Given the description of an element on the screen output the (x, y) to click on. 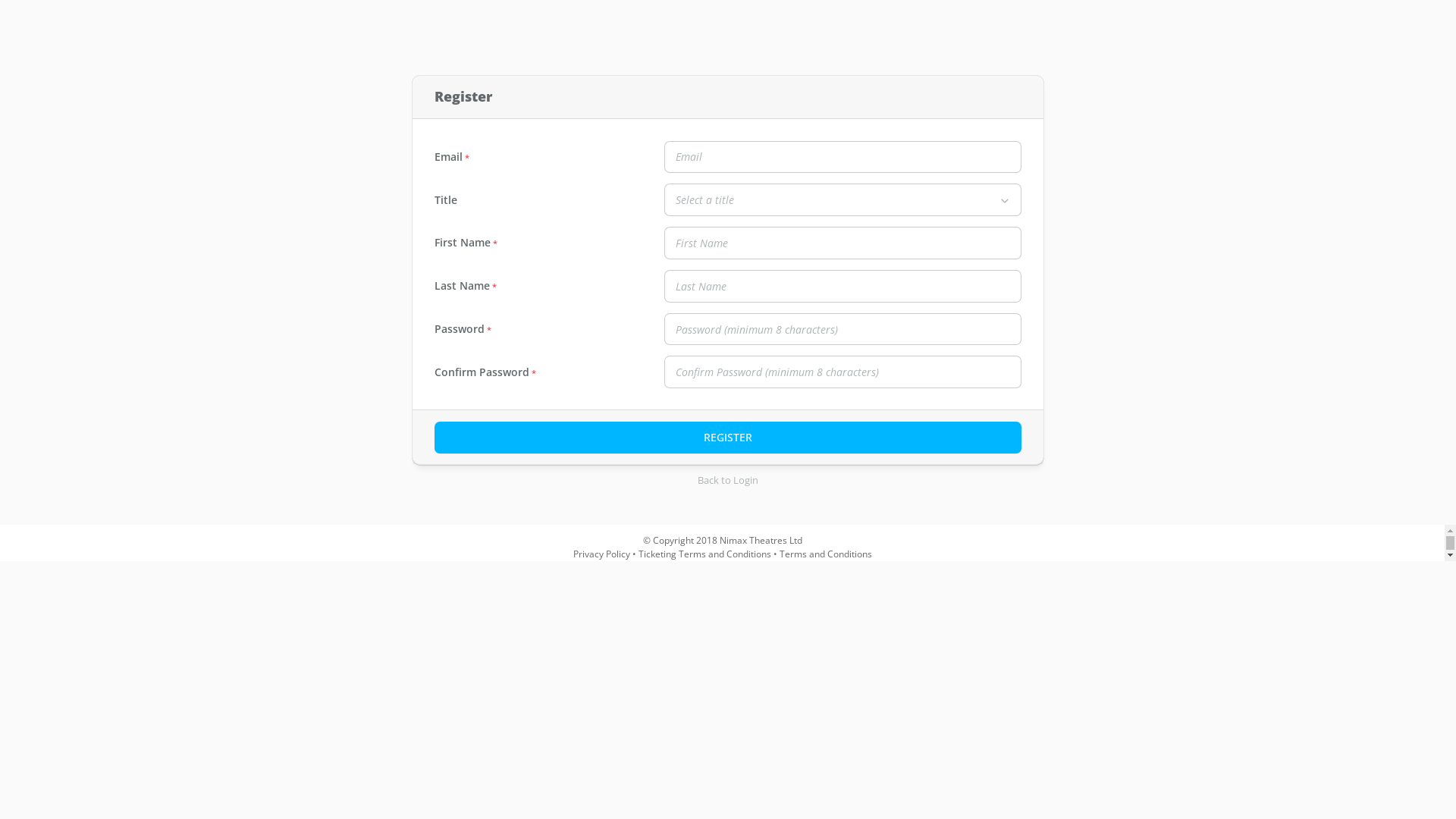
Back to Login Element type: text (727, 479)
REGISTER Element type: text (727, 437)
